Given the description of an element on the screen output the (x, y) to click on. 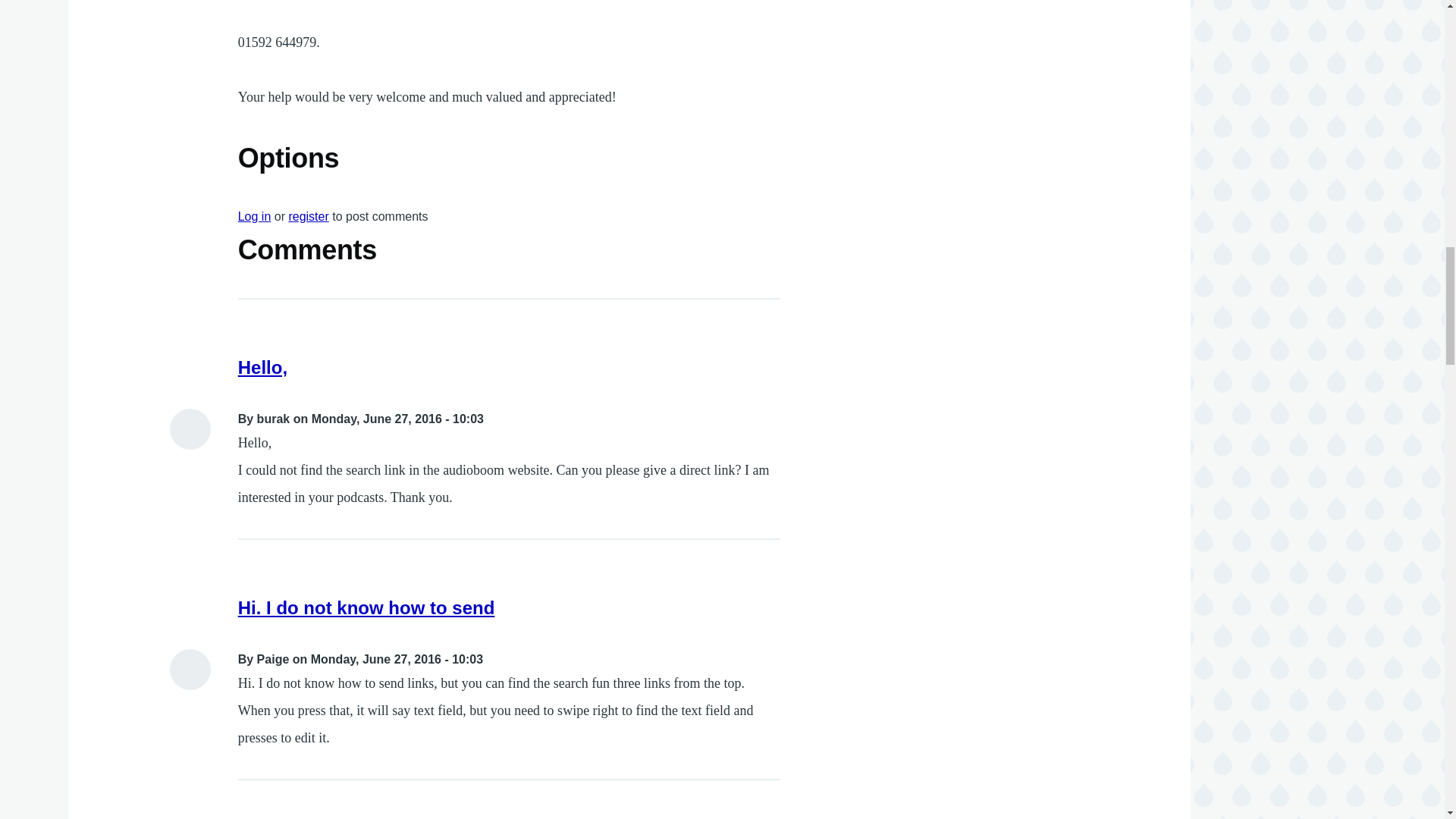
register (308, 215)
Log in (254, 215)
Hi. I do not know how to send (366, 607)
Hello, (262, 367)
